Given the description of an element on the screen output the (x, y) to click on. 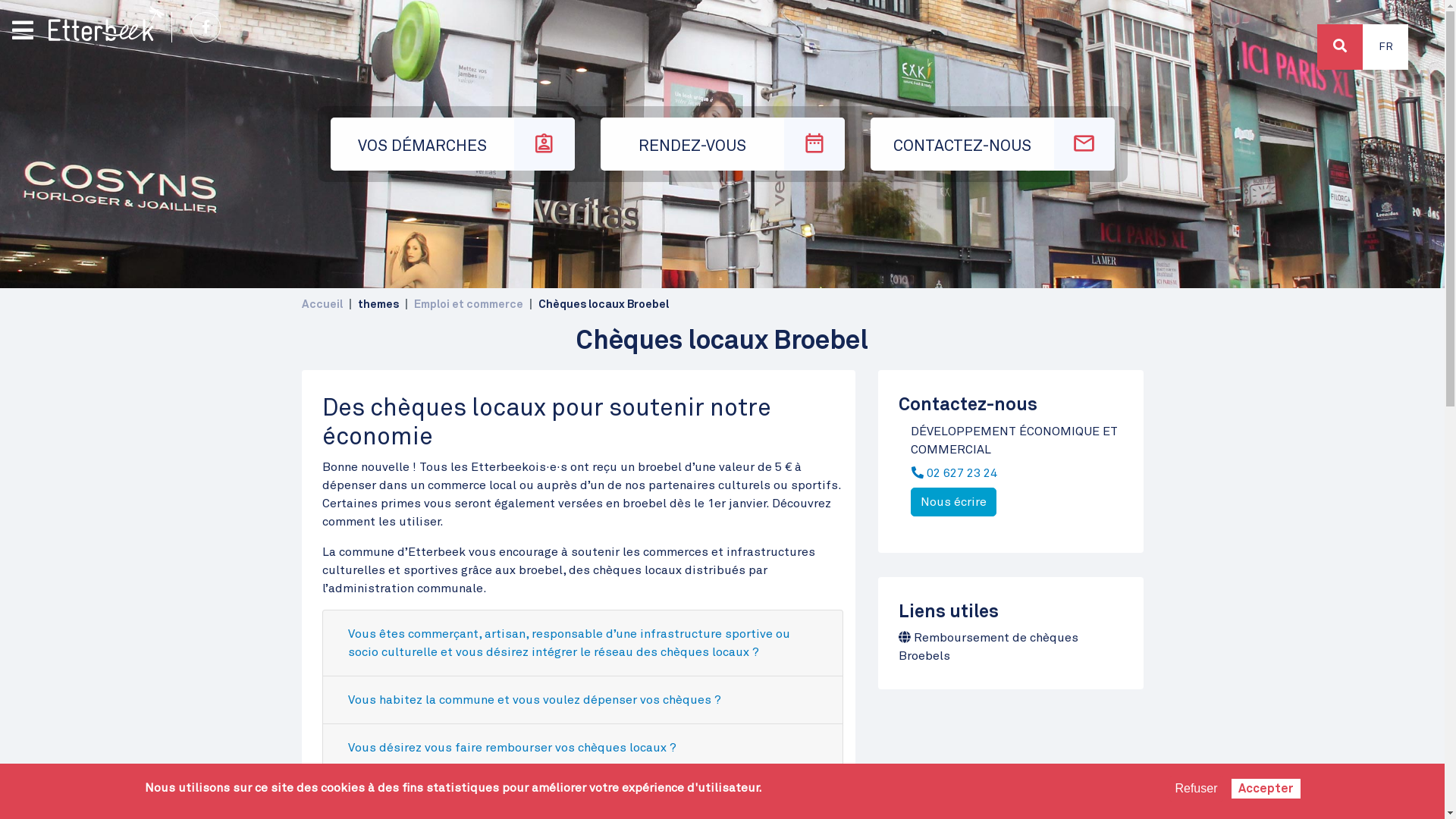
Emploi et commerce Element type: text (468, 304)
02 627 23 24 Element type: text (958, 472)
Accueil Element type: text (321, 304)
Refuser Element type: text (1195, 788)
Aller au contenu principal Element type: text (721, 1)
CONTACTEZ-NOUS Element type: text (992, 143)
Accueil Element type: hover (106, 23)
RENDEZ-VOUS Element type: text (722, 143)
Accepter Element type: text (1265, 788)
FR Element type: text (1385, 47)
